Given the description of an element on the screen output the (x, y) to click on. 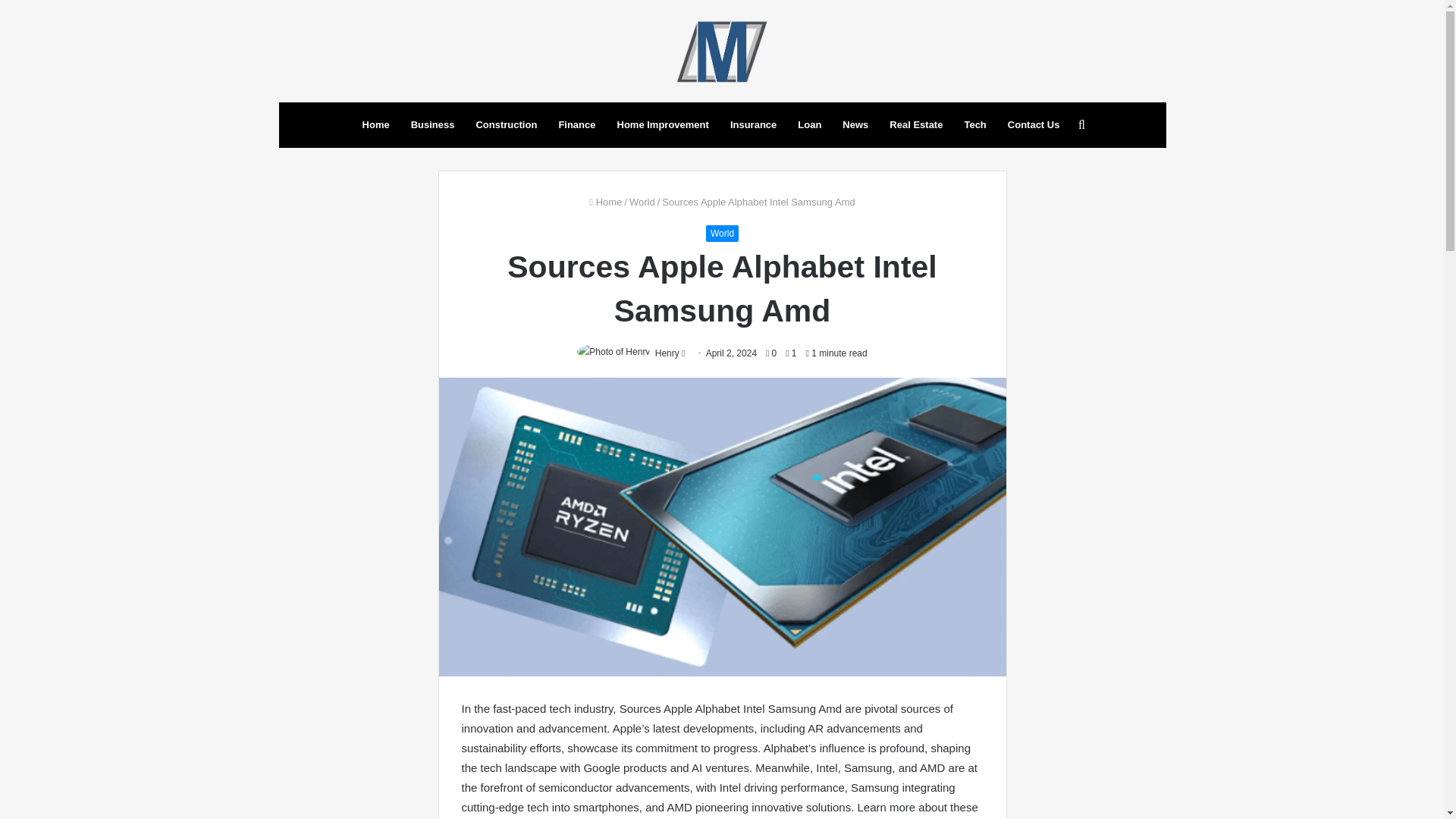
Home Improvement (663, 125)
Insurance (753, 125)
World (722, 233)
Murphy Business Charlotte (722, 50)
Home (376, 125)
News (855, 125)
Construction (505, 125)
Contact Us (1033, 125)
Loan (809, 125)
Real Estate (916, 125)
